Given the description of an element on the screen output the (x, y) to click on. 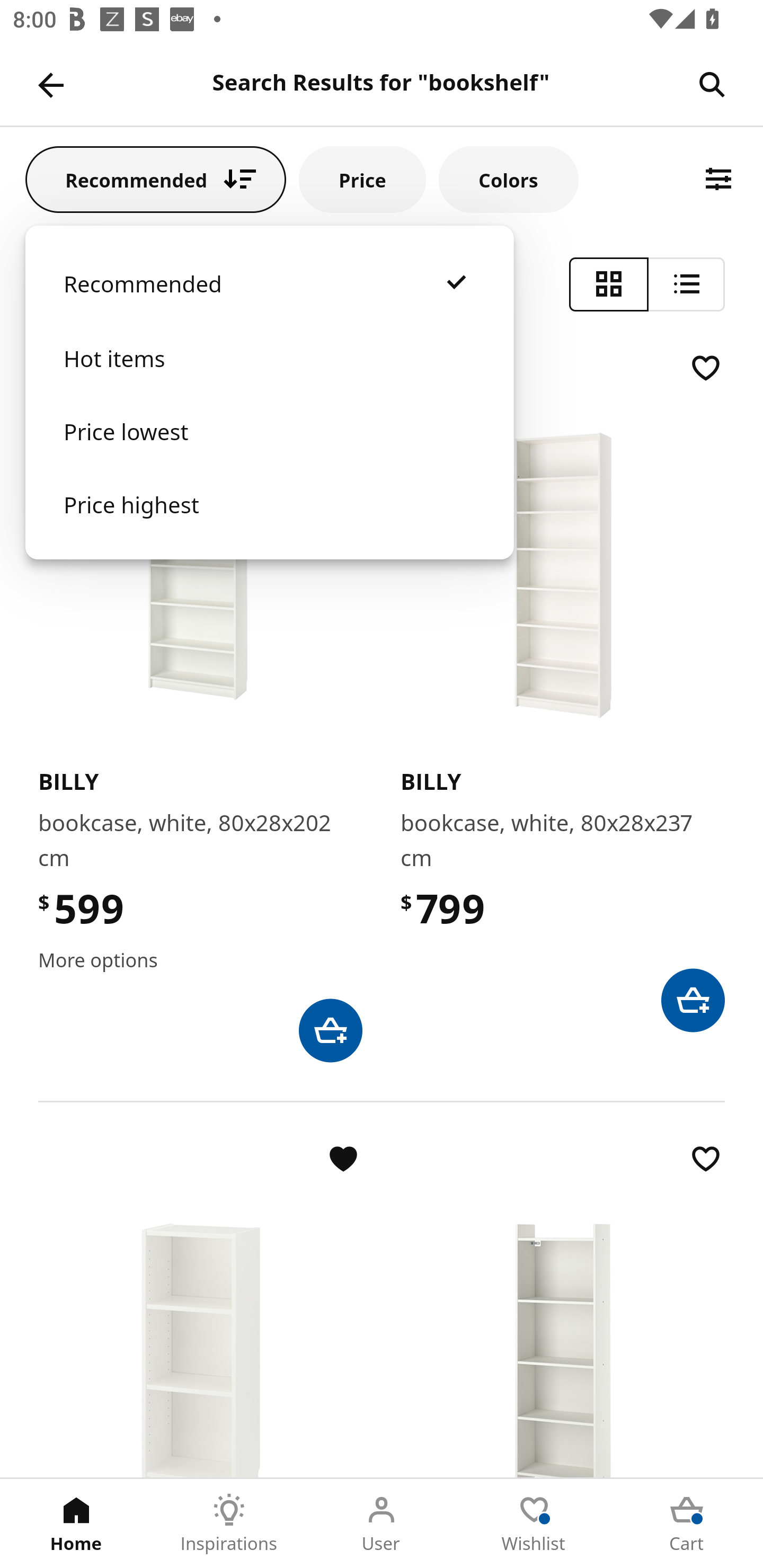
Recommended (155, 179)
Price (362, 179)
Colors (508, 179)
Recommended (269, 301)
Hot items (269, 376)
​B​I​L​L​Y​
bookcase, white, 80x28x237 cm
$
799 (562, 690)
Price lowest (269, 449)
Price highest (269, 522)
​B​I​L​L​Y​
bookcase, white, 40x28x106 cm
$
279 (200, 1308)
Home
Tab 1 of 5 (76, 1522)
Inspirations
Tab 2 of 5 (228, 1522)
User
Tab 3 of 5 (381, 1522)
Wishlist
Tab 4 of 5 (533, 1522)
Cart
Tab 5 of 5 (686, 1522)
